Given the description of an element on the screen output the (x, y) to click on. 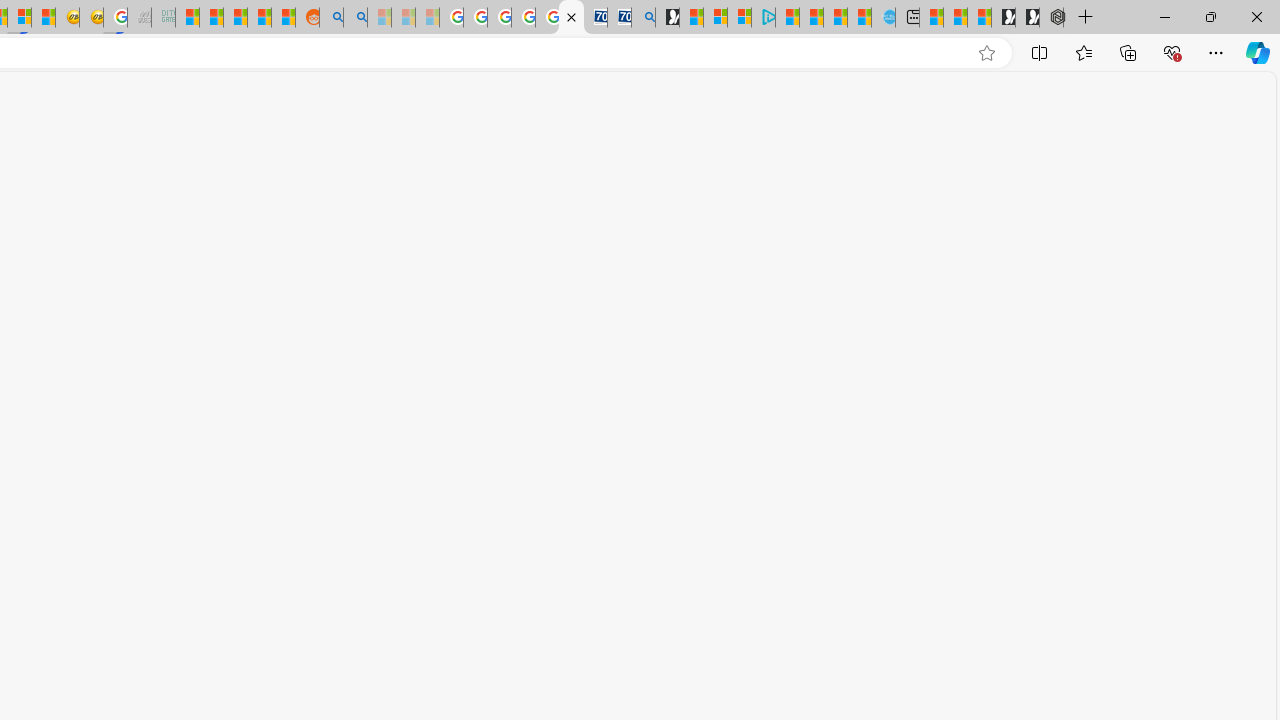
DITOGAMES AG Imprint - Sleeping (163, 17)
Microsoft Start Gaming (667, 17)
